Given the description of an element on the screen output the (x, y) to click on. 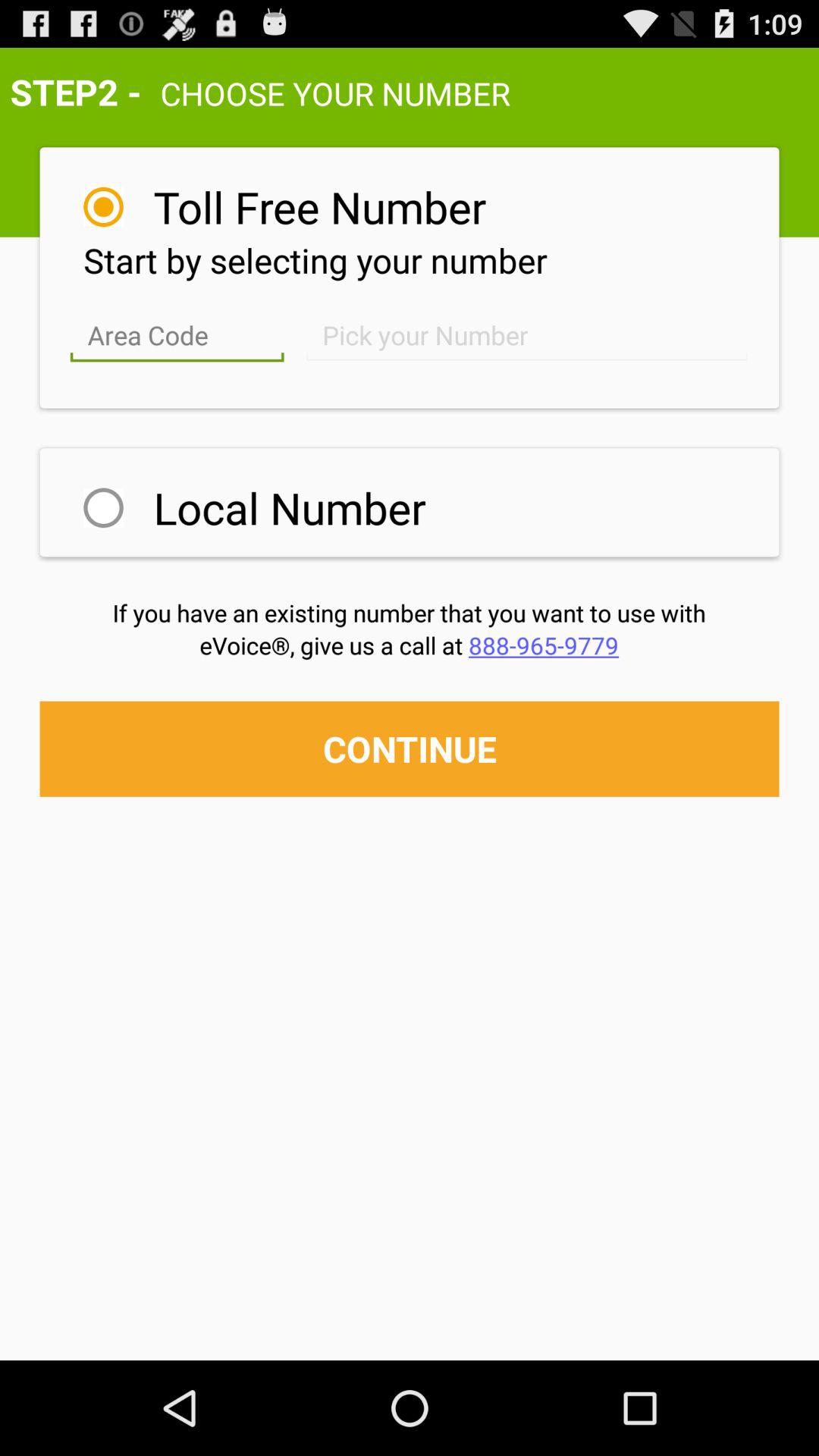
press the icon below step2 -  app (319, 206)
